Given the description of an element on the screen output the (x, y) to click on. 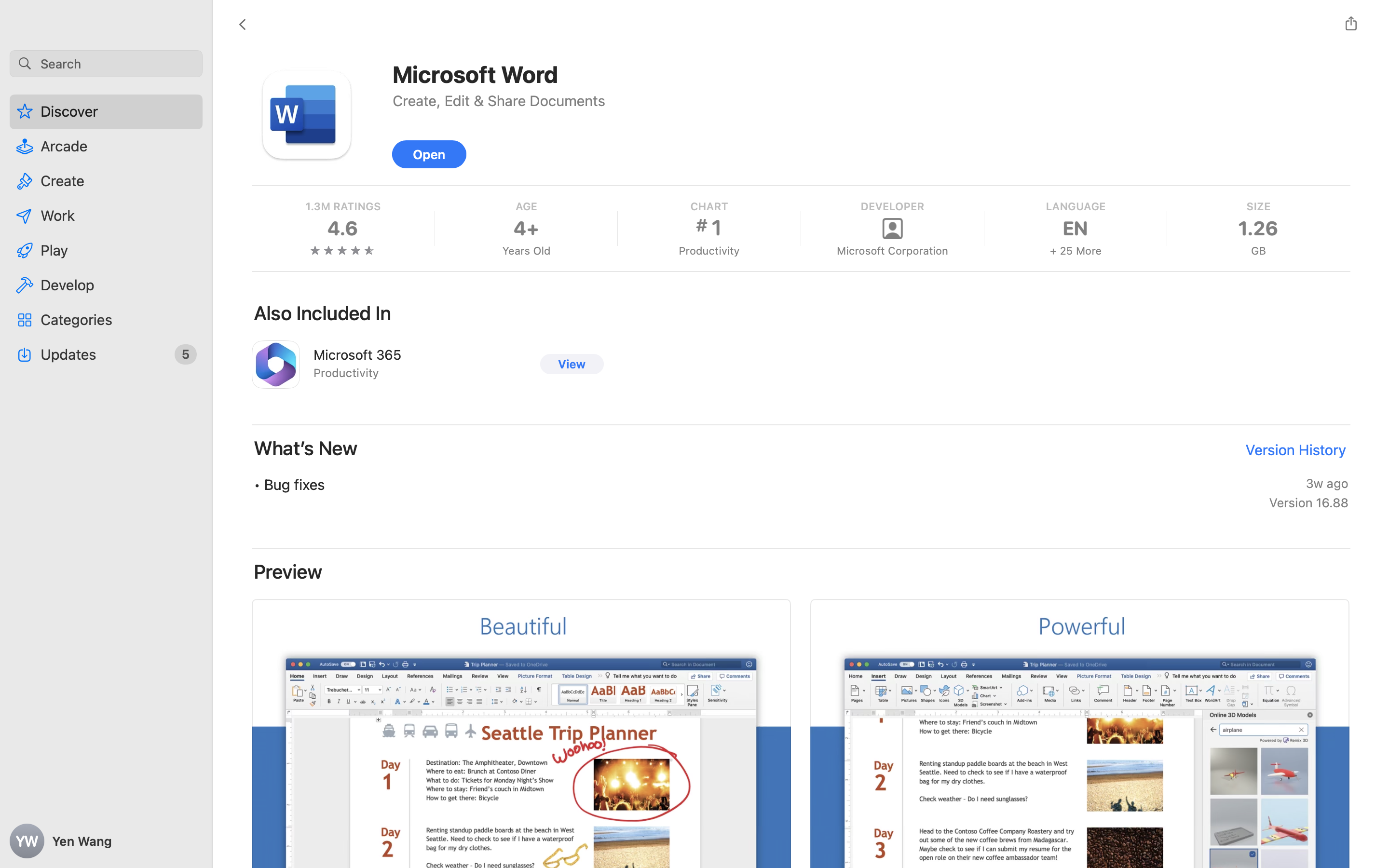
+ 25 More Element type: AXStaticText (1074, 250)
GB, SIZE, 1.26 Element type: AXStaticText (1257, 228)
AGE Element type: AXStaticText (525, 206)
CHART Element type: AXStaticText (708, 206)
four and three quarters stars, 1.3M RATINGS, 4.6 Element type: AXStaticText (342, 228)
